Given the description of an element on the screen output the (x, y) to click on. 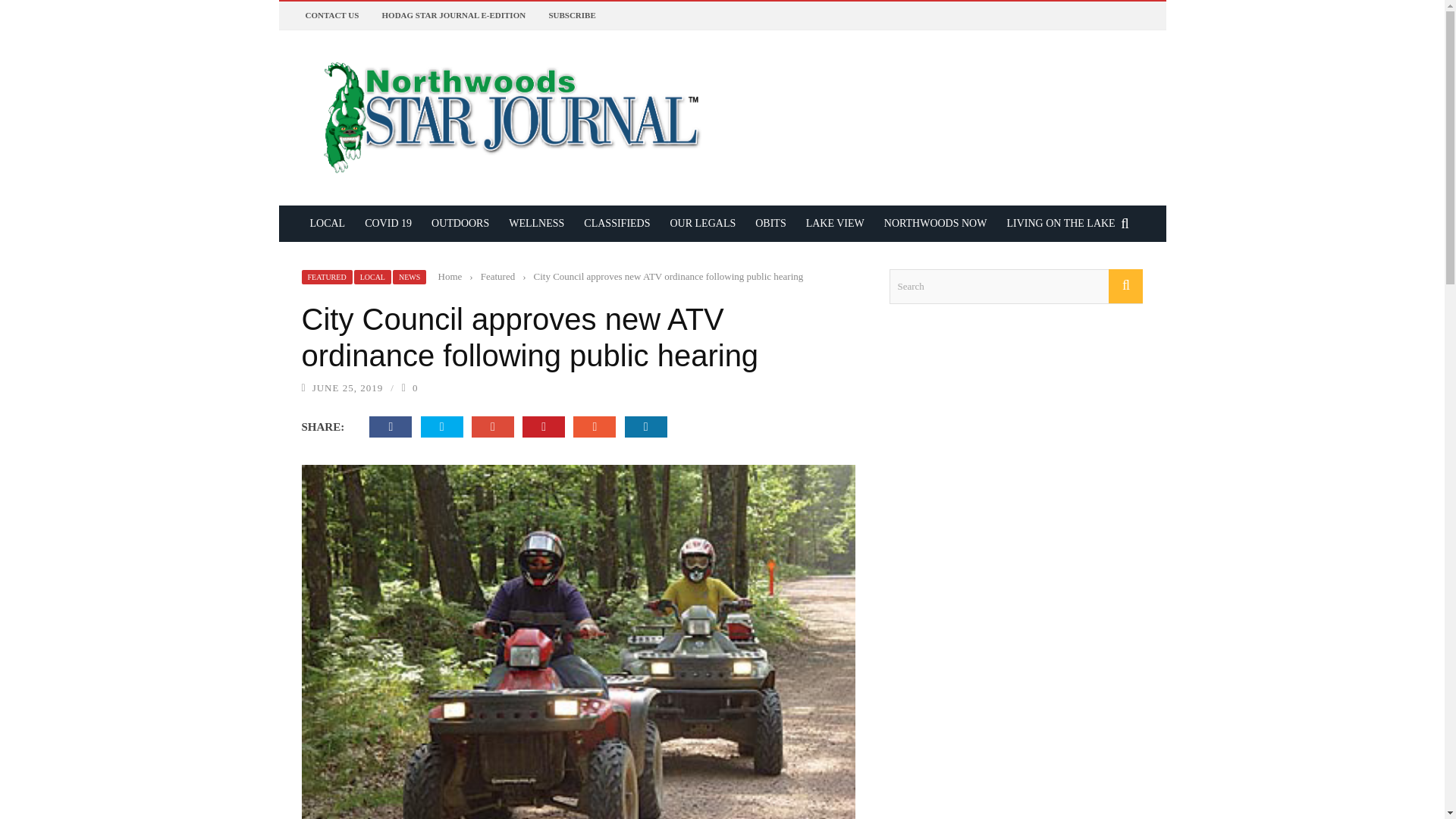
HODAG STAR JOURNAL E-EDITION (453, 14)
SUBSCRIBE (571, 14)
LOCAL (327, 223)
CONTACT US (331, 14)
Search (1015, 286)
